Given the description of an element on the screen output the (x, y) to click on. 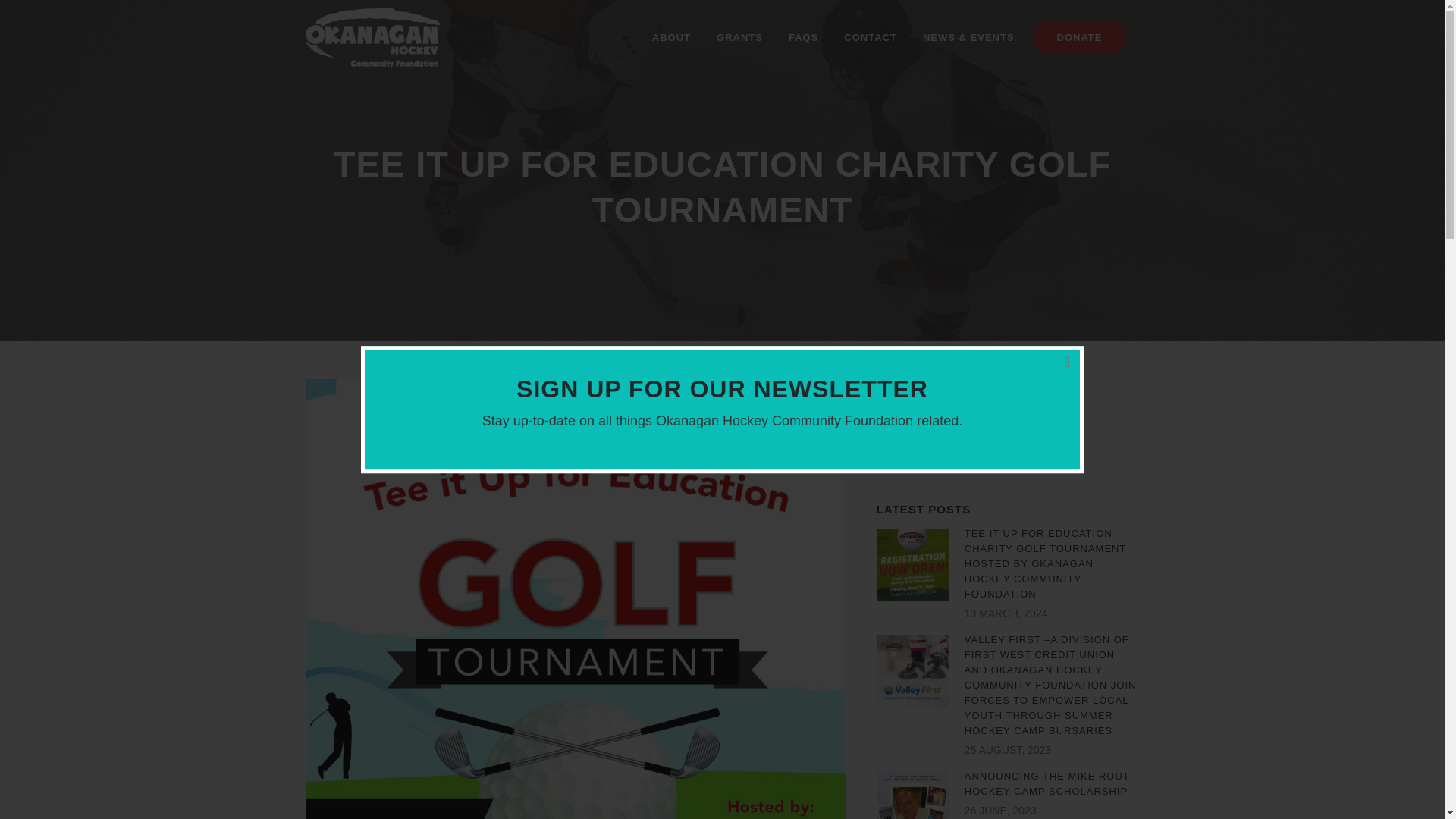
DONATE (1083, 38)
GRANTS (739, 38)
Close (1075, 353)
Events (897, 422)
ANNOUNCING THE MIKE ROUT HOCKEY CAMP SCHOLARSHIP (1046, 783)
News (893, 453)
ABOUT (671, 38)
CONTACT (870, 38)
FAQS (803, 38)
